Given the description of an element on the screen output the (x, y) to click on. 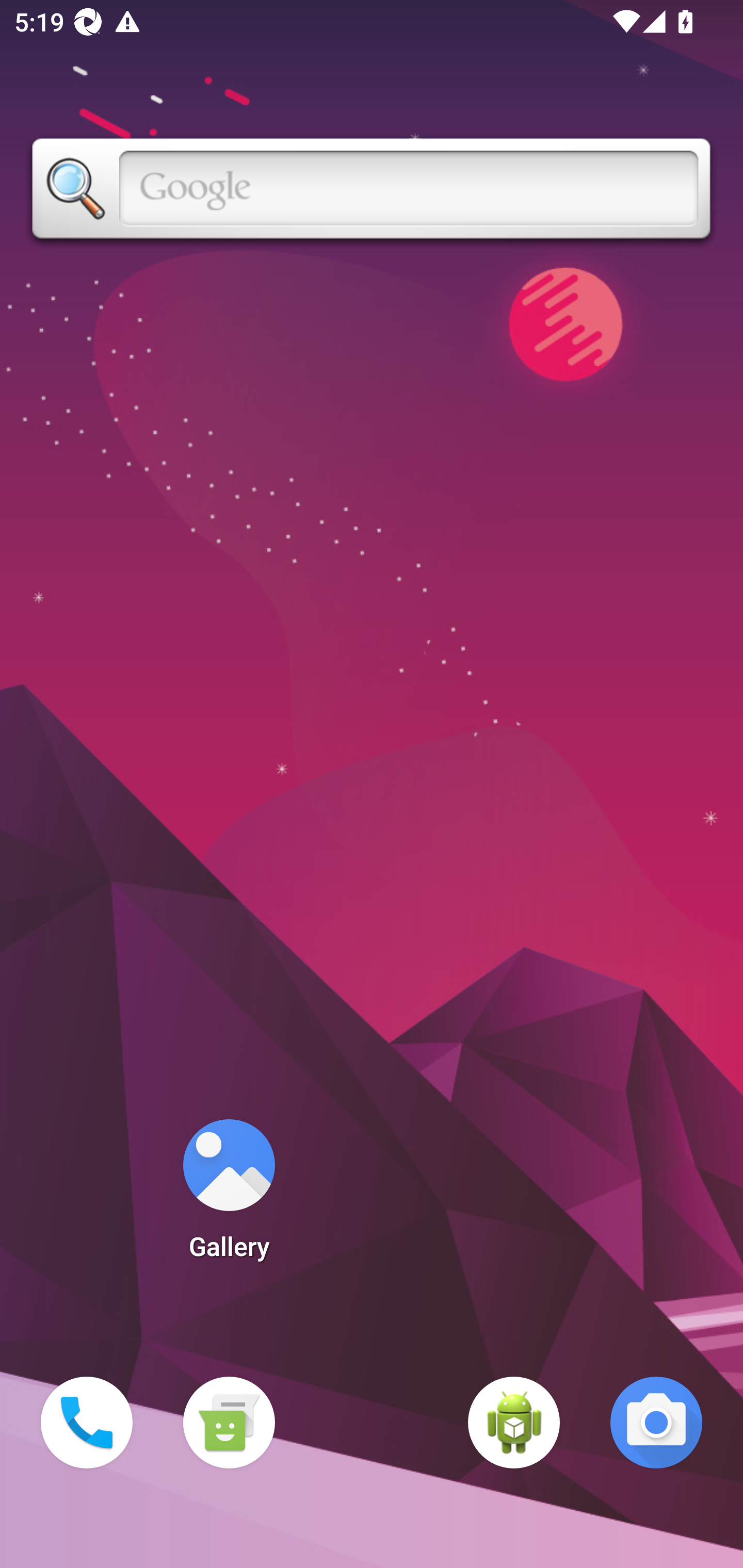
Gallery (228, 1195)
Phone (86, 1422)
Messaging (228, 1422)
WebView Browser Tester (513, 1422)
Camera (656, 1422)
